Given the description of an element on the screen output the (x, y) to click on. 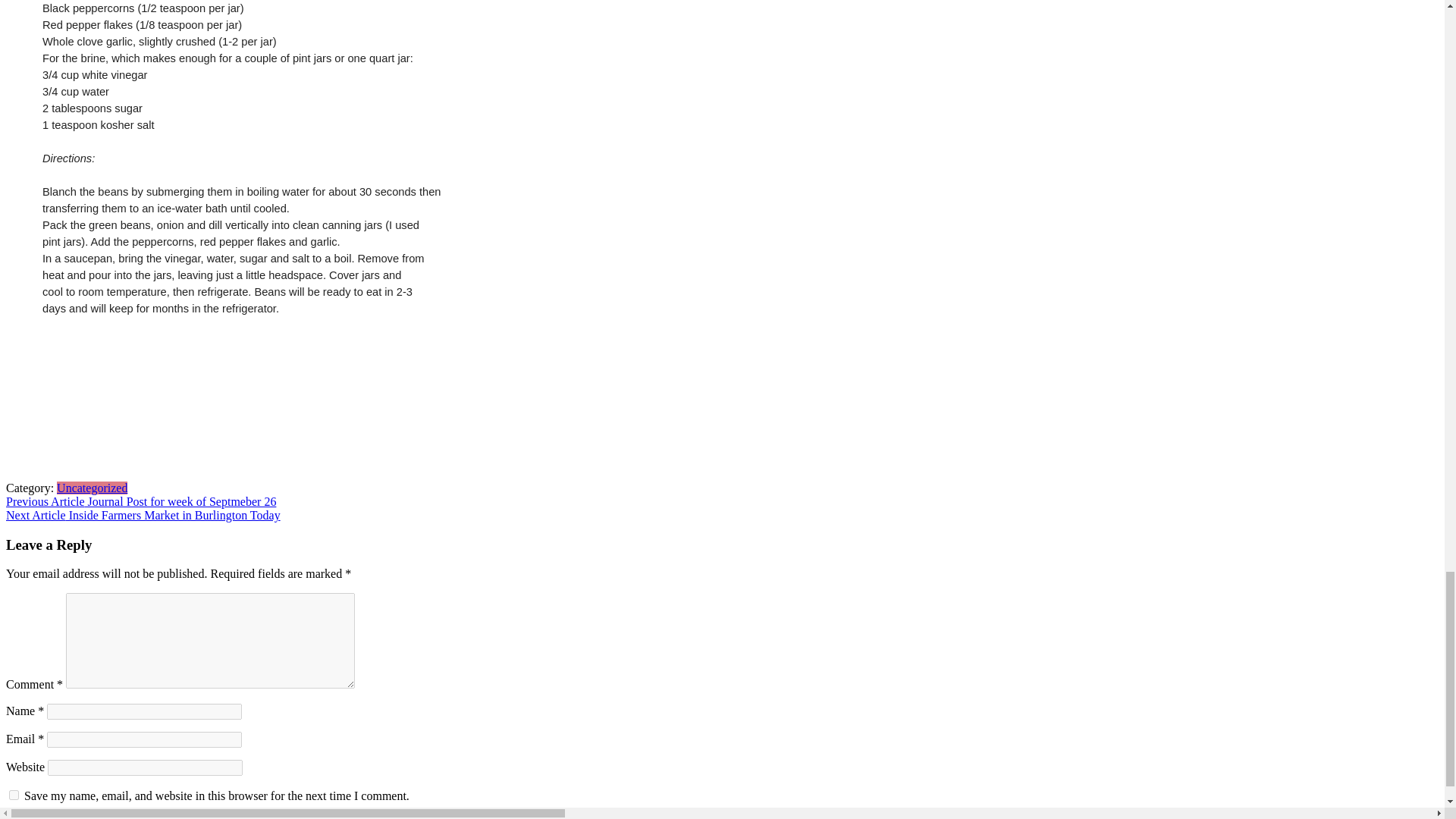
yes (13, 795)
Uncategorized (92, 487)
Next Article Inside Farmers Market in Burlington Today (143, 514)
Previous Article Journal Post for week of Septmeber 26 (140, 501)
